Given the description of an element on the screen output the (x, y) to click on. 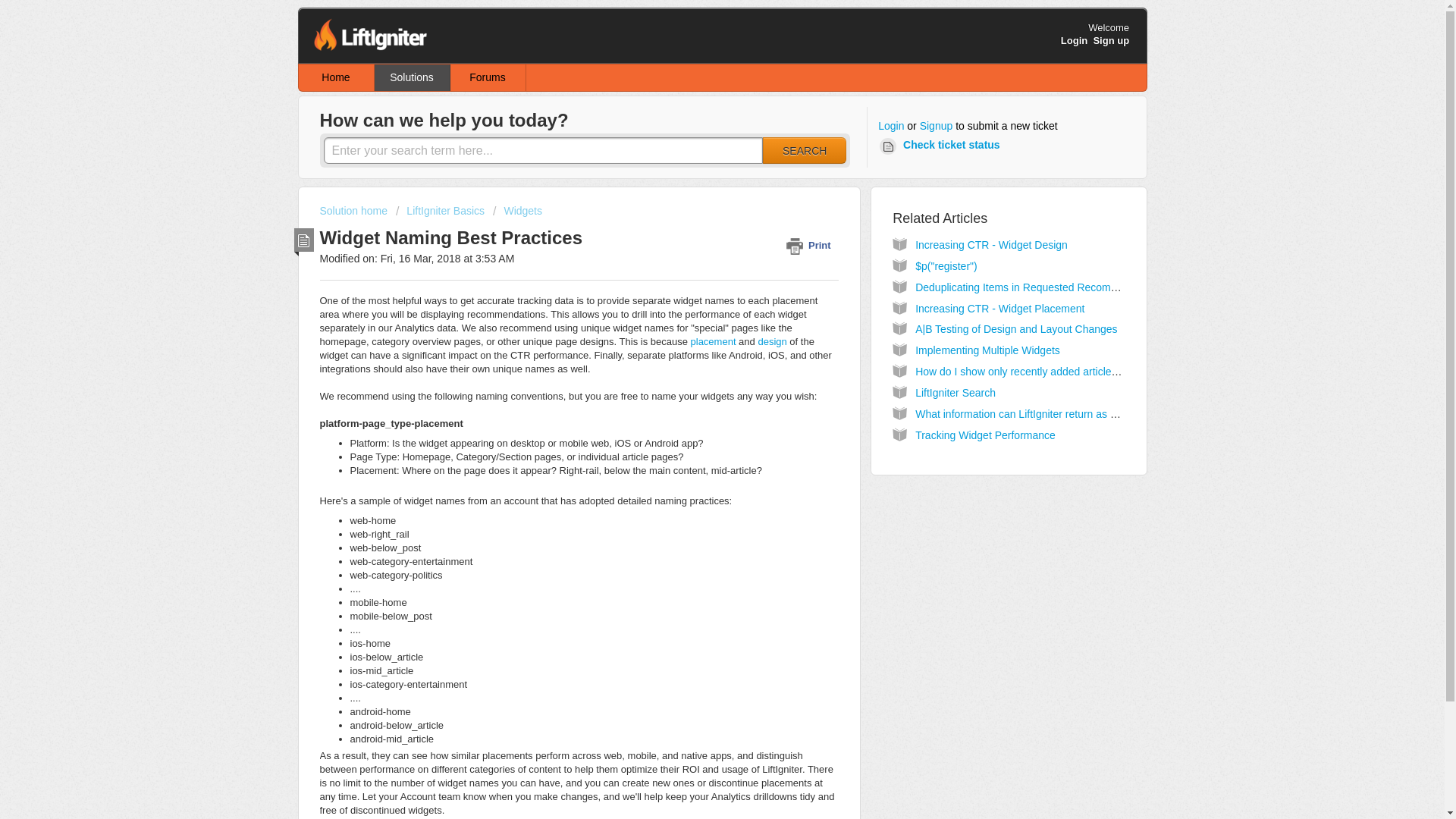
LiftIgniter Basics (440, 210)
Solutions (411, 77)
 placement (711, 341)
Solution home (355, 210)
Print (812, 244)
Deduplicating Items in Requested Recommendations (1040, 287)
Home (336, 77)
Tracking Widget Performance (985, 435)
Widgets (517, 210)
Increasing CTR - Widget Placement (999, 308)
Login (890, 126)
Sign up (1111, 40)
Forums (487, 77)
Login (1074, 40)
